Given the description of an element on the screen output the (x, y) to click on. 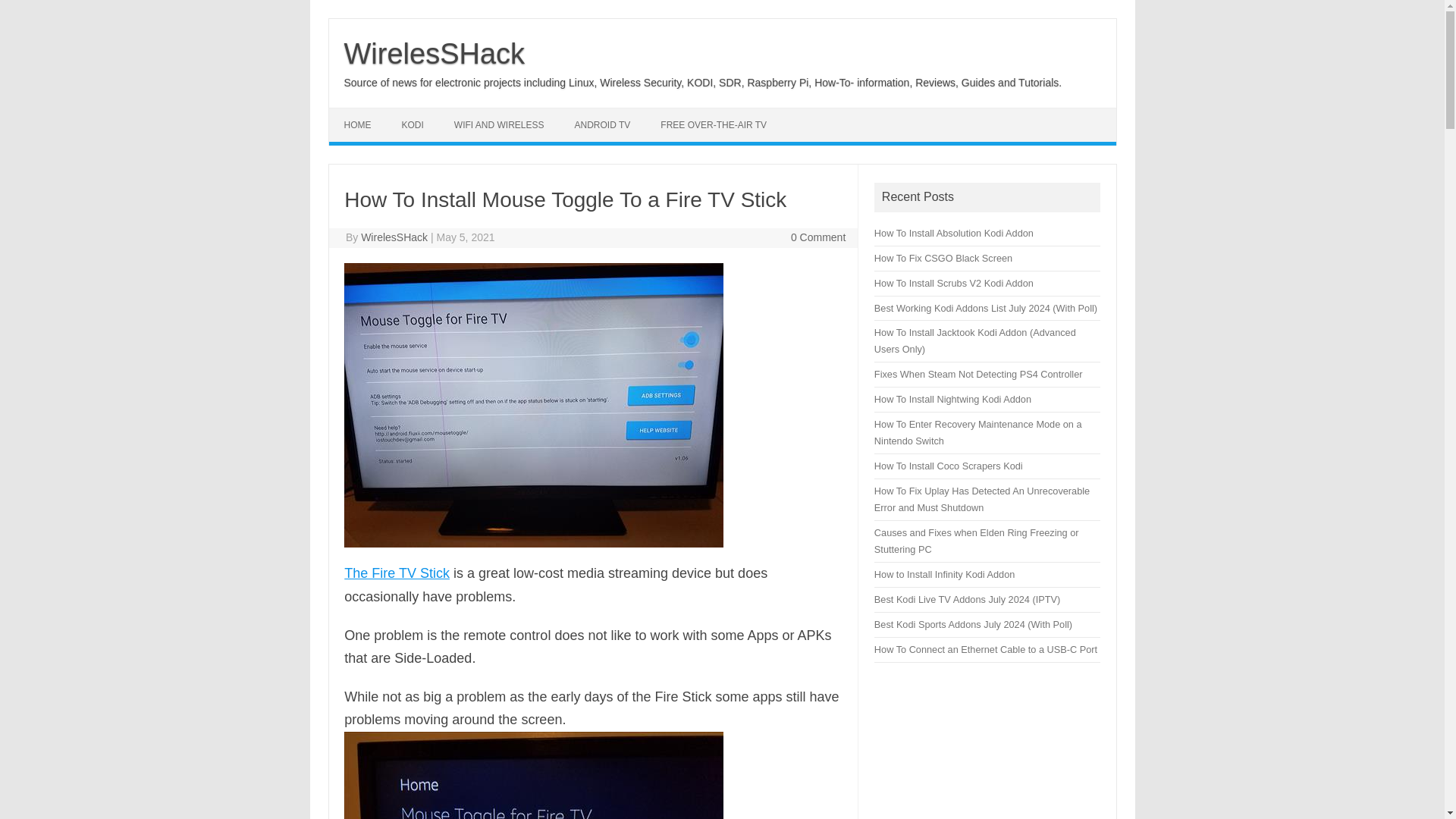
WirelesSHack (394, 236)
The Fire TV Stick (396, 572)
HOME (358, 124)
How To Fix CSGO Black Screen (943, 257)
How To Install Absolution Kodi Addon (954, 233)
0 Comment (817, 236)
KODI (413, 124)
WirelesSHack (434, 53)
WIFI AND WIRELESS (499, 124)
How To Install Scrubs V2 Kodi Addon (954, 283)
WirelesSHack (434, 53)
ANDROID TV (602, 124)
